Given the description of an element on the screen output the (x, y) to click on. 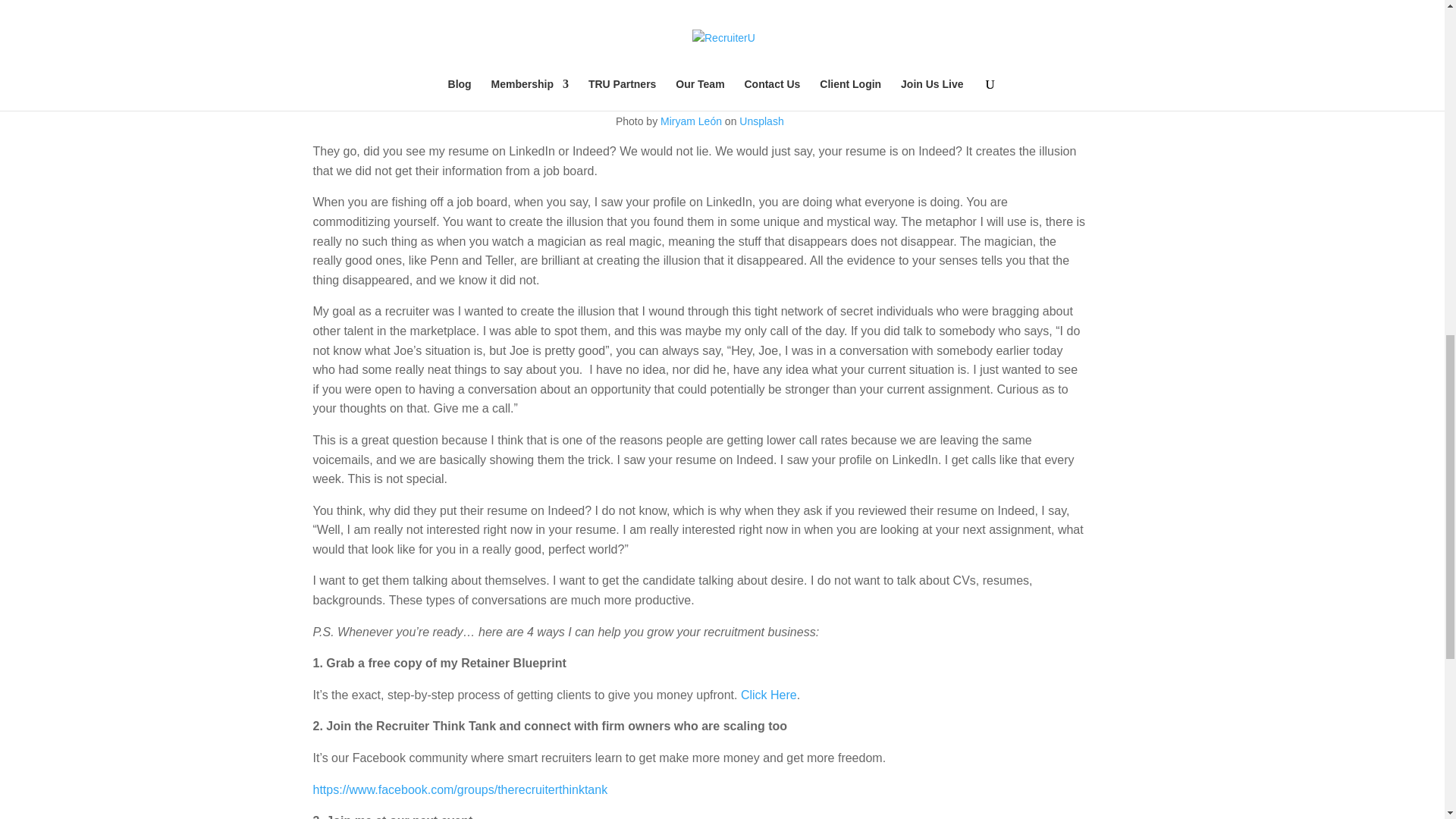
Unsplash (761, 121)
Click Here (768, 694)
